Given the description of an element on the screen output the (x, y) to click on. 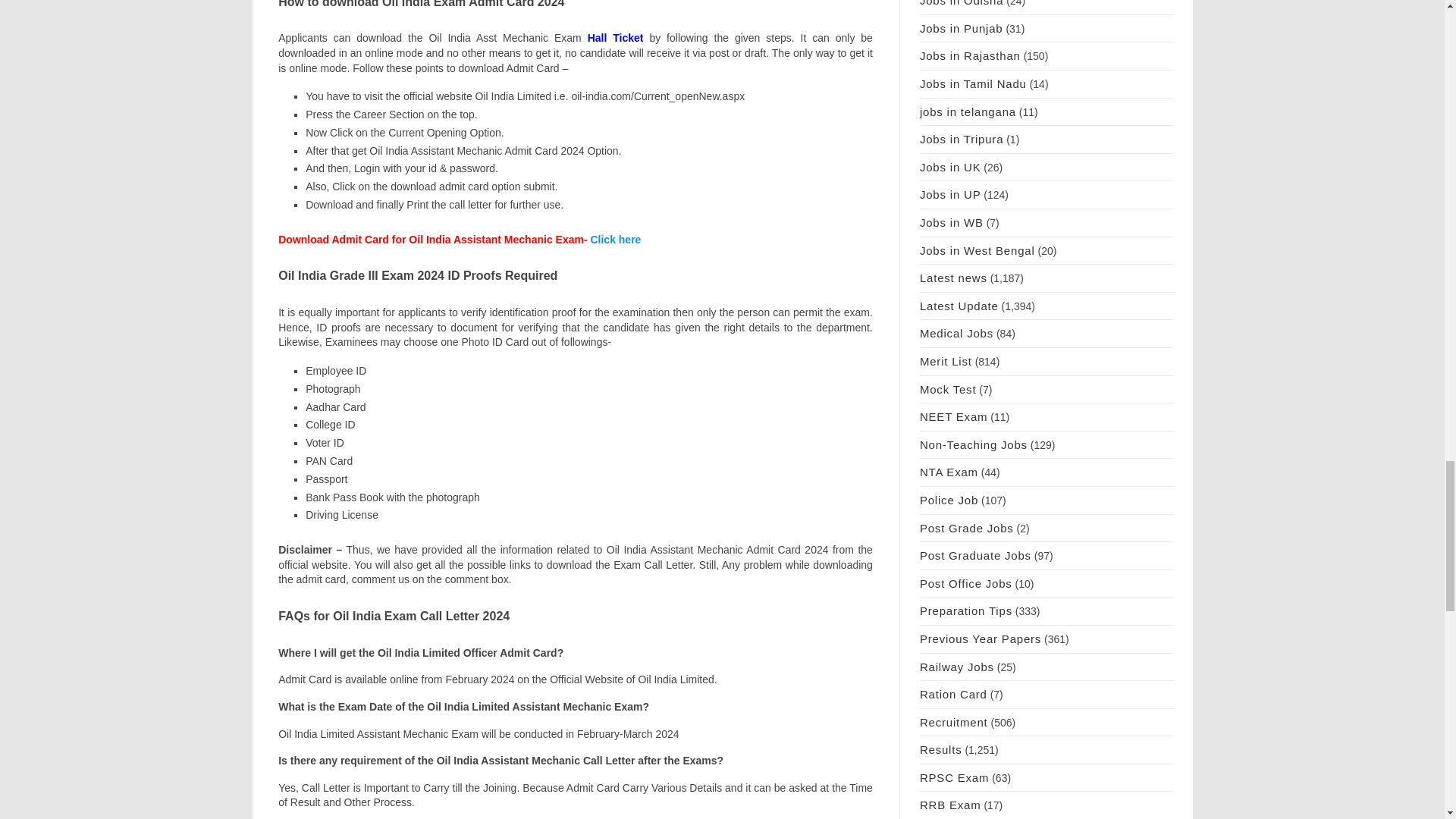
Click here (614, 239)
Hall Ticket (615, 37)
Oil India Limited Admit Card (614, 239)
